Given the description of an element on the screen output the (x, y) to click on. 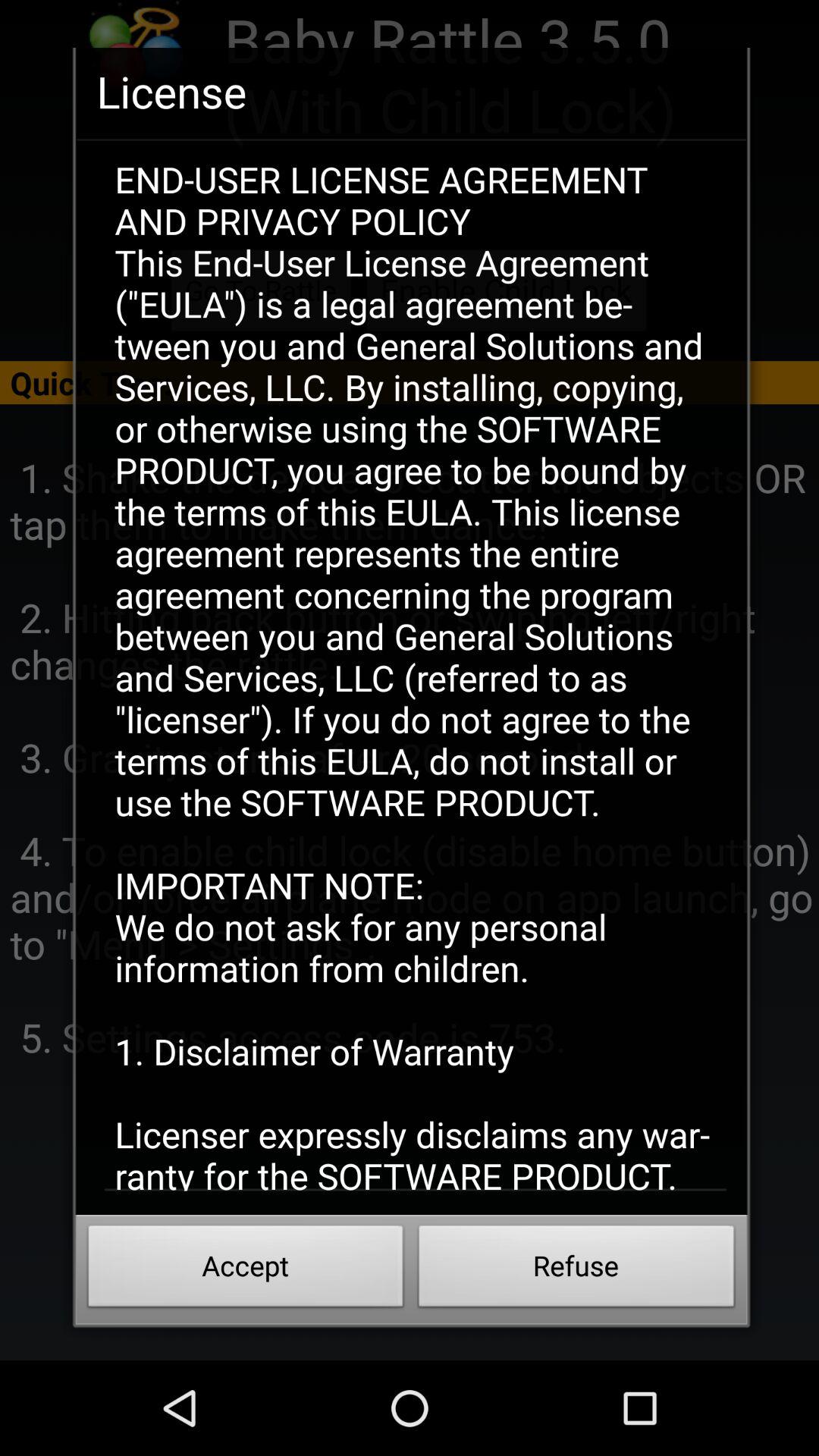
launch item to the left of refuse item (245, 1270)
